Given the description of an element on the screen output the (x, y) to click on. 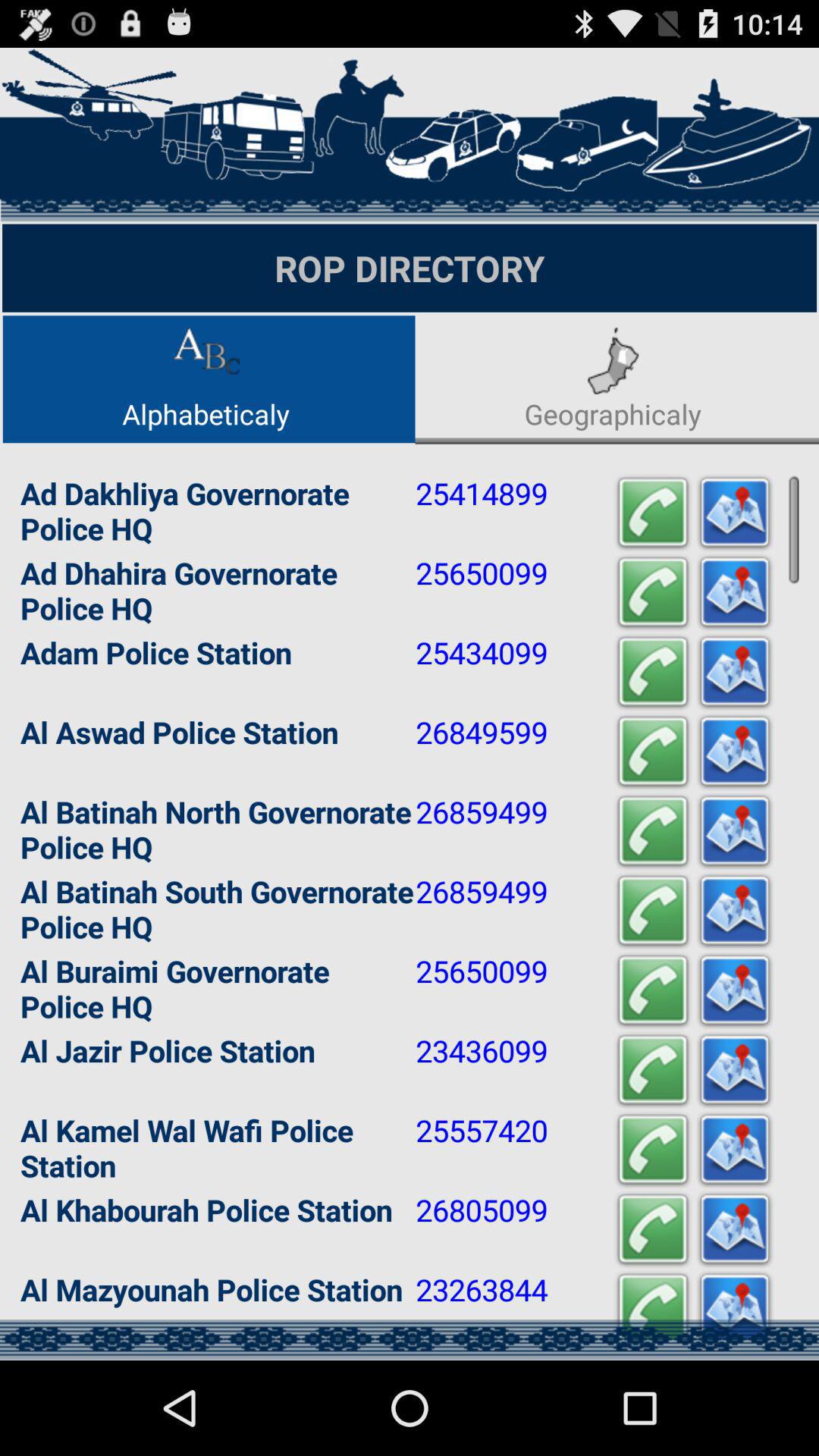
call (652, 1229)
